Given the description of an element on the screen output the (x, y) to click on. 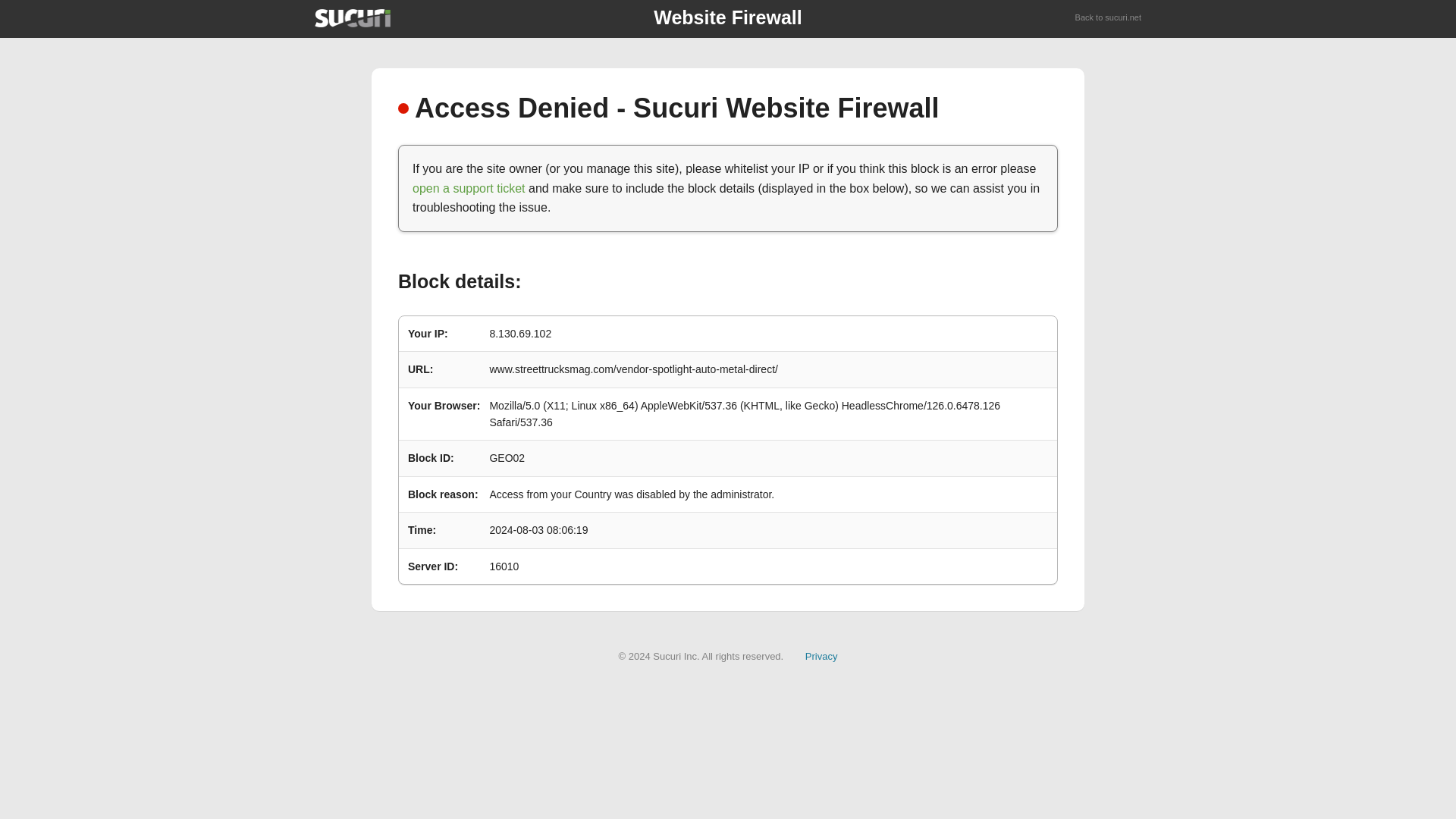
Privacy (821, 655)
open a support ticket (468, 187)
Back to sucuri.net (1108, 18)
